Given the description of an element on the screen output the (x, y) to click on. 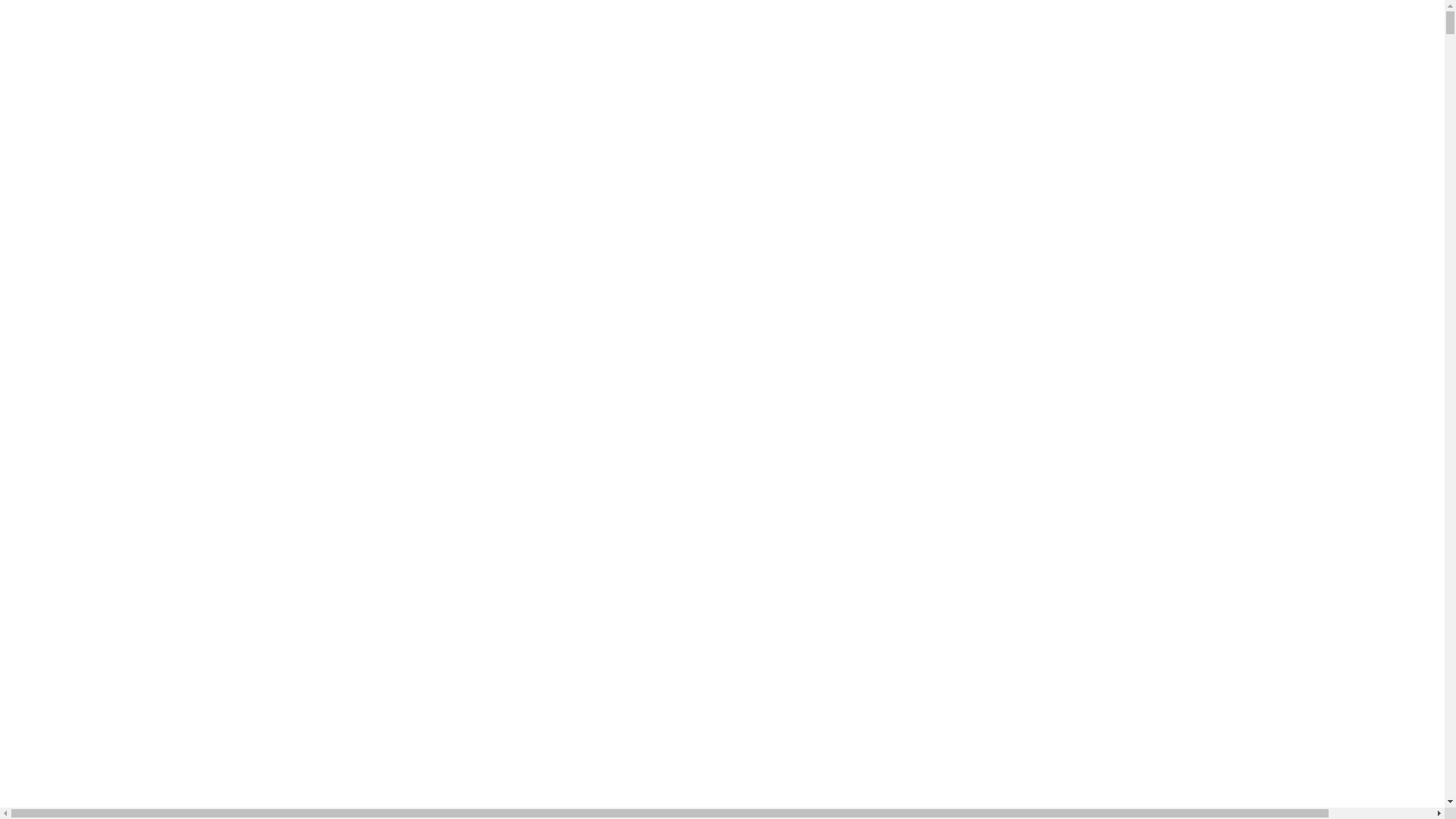
Moderne tuinen Element type: text (44, 147)
0 Element type: text (722, 45)
Landelijke tuinen Element type: text (48, 134)
Realisaties Element type: text (32, 120)
Mijn verhaal Element type: text (37, 106)
Skip to Content Element type: text (43, 65)
Werkwijze Element type: text (32, 188)
Bedrijfsgroen Element type: text (39, 175)
Home Element type: text (20, 93)
Contact Element type: text (24, 202)
Stadstuinen Element type: text (34, 161)
